Given the description of an element on the screen output the (x, y) to click on. 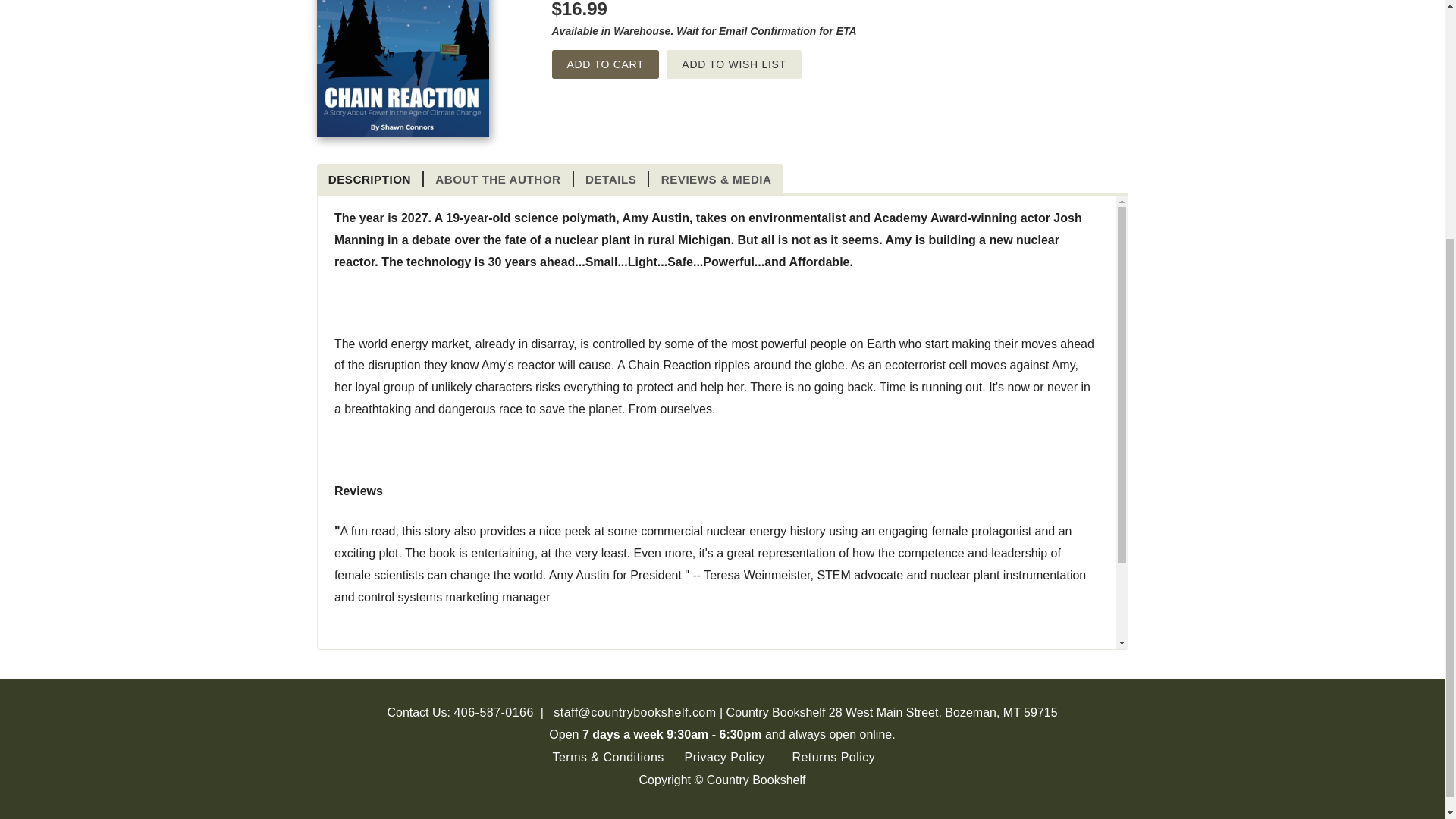
Add to Cart (605, 64)
